Given the description of an element on the screen output the (x, y) to click on. 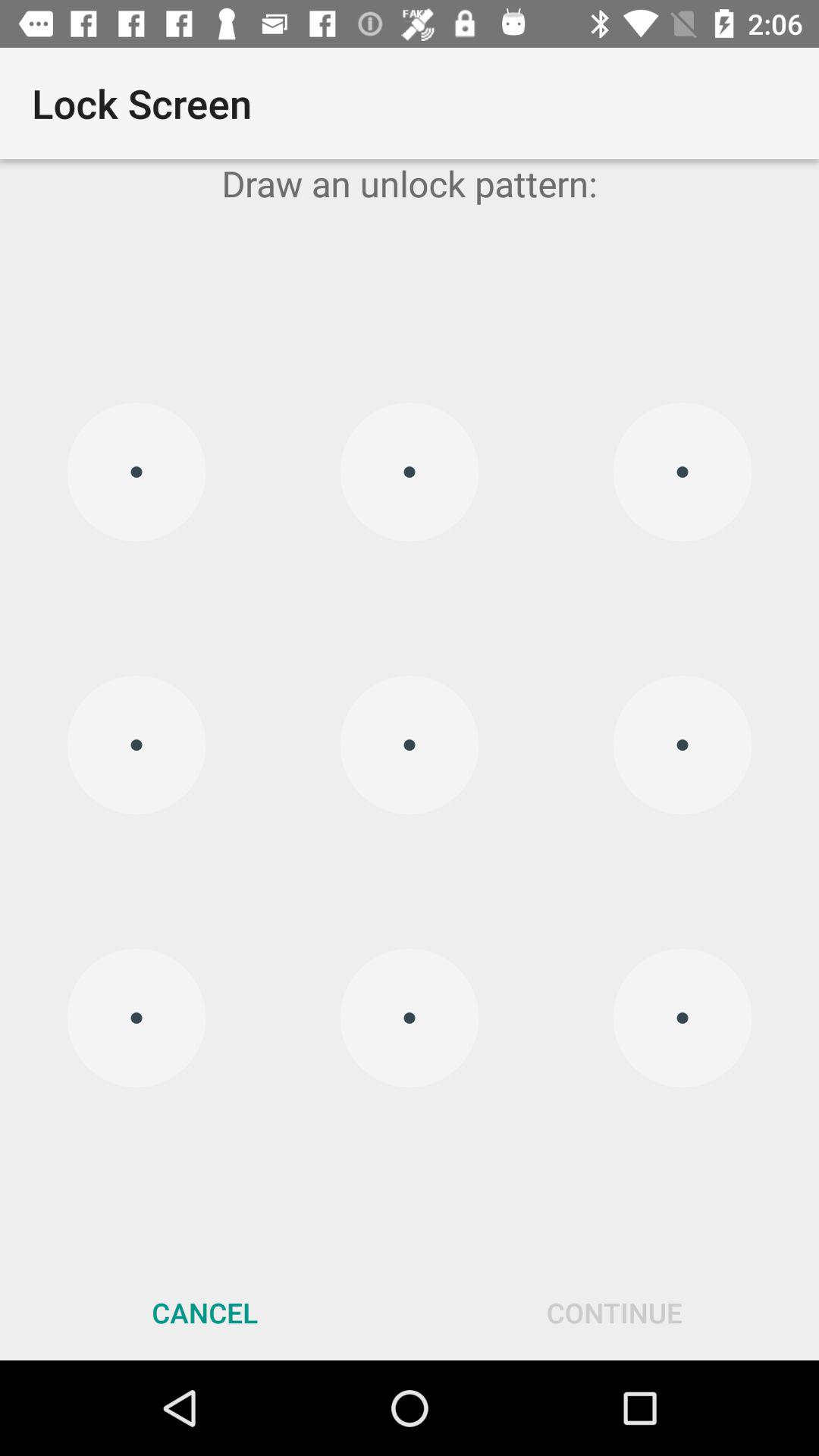
flip until the cancel icon (204, 1312)
